Given the description of an element on the screen output the (x, y) to click on. 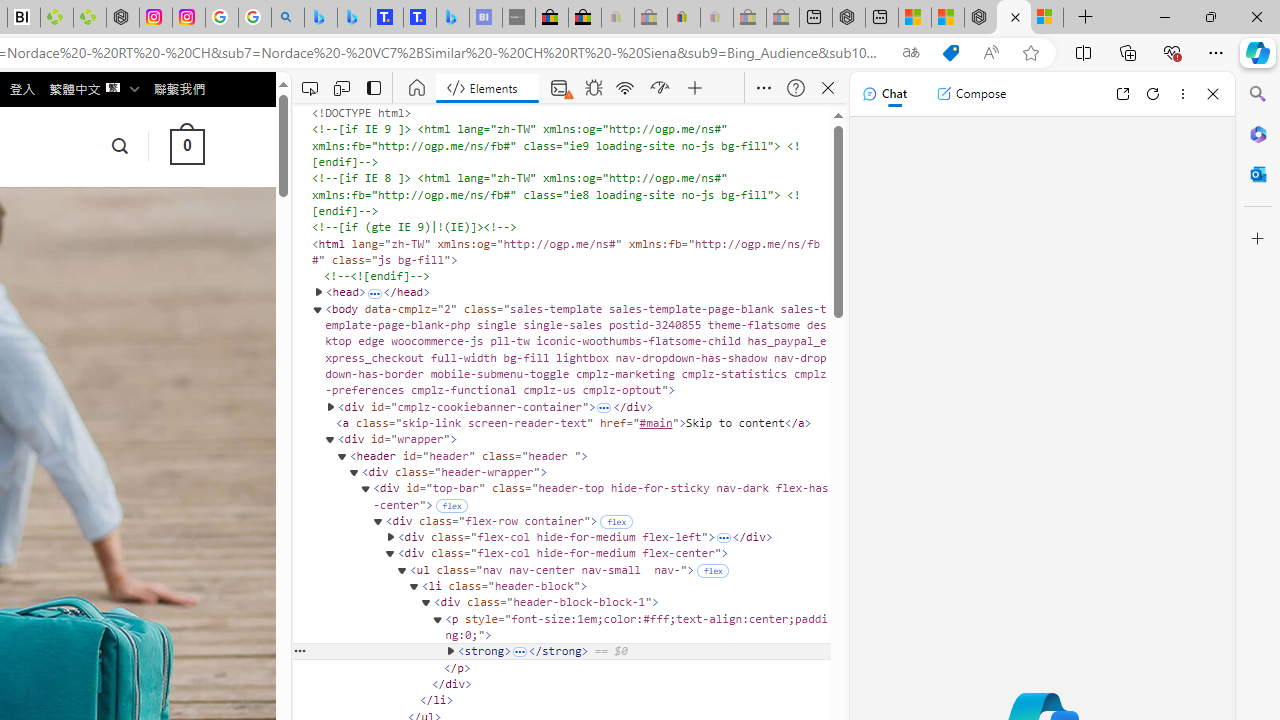
Elements (487, 88)
Customize and control DevTools (764, 88)
Select an element in the page to inspect it (309, 88)
Collections (1128, 52)
Minimize (1164, 16)
Refresh (1153, 93)
Console warnings present. (555, 88)
Microsoft Bing Travel - Flights from Hong Kong to Bangkok (320, 17)
Sign in to your Microsoft account (1046, 17)
Add this page to favorites (Ctrl+D) (1030, 53)
Toggle device emulation (341, 88)
New Tab (1085, 17)
Read aloud this page (Ctrl+Shift+U) (991, 53)
